Given the description of an element on the screen output the (x, y) to click on. 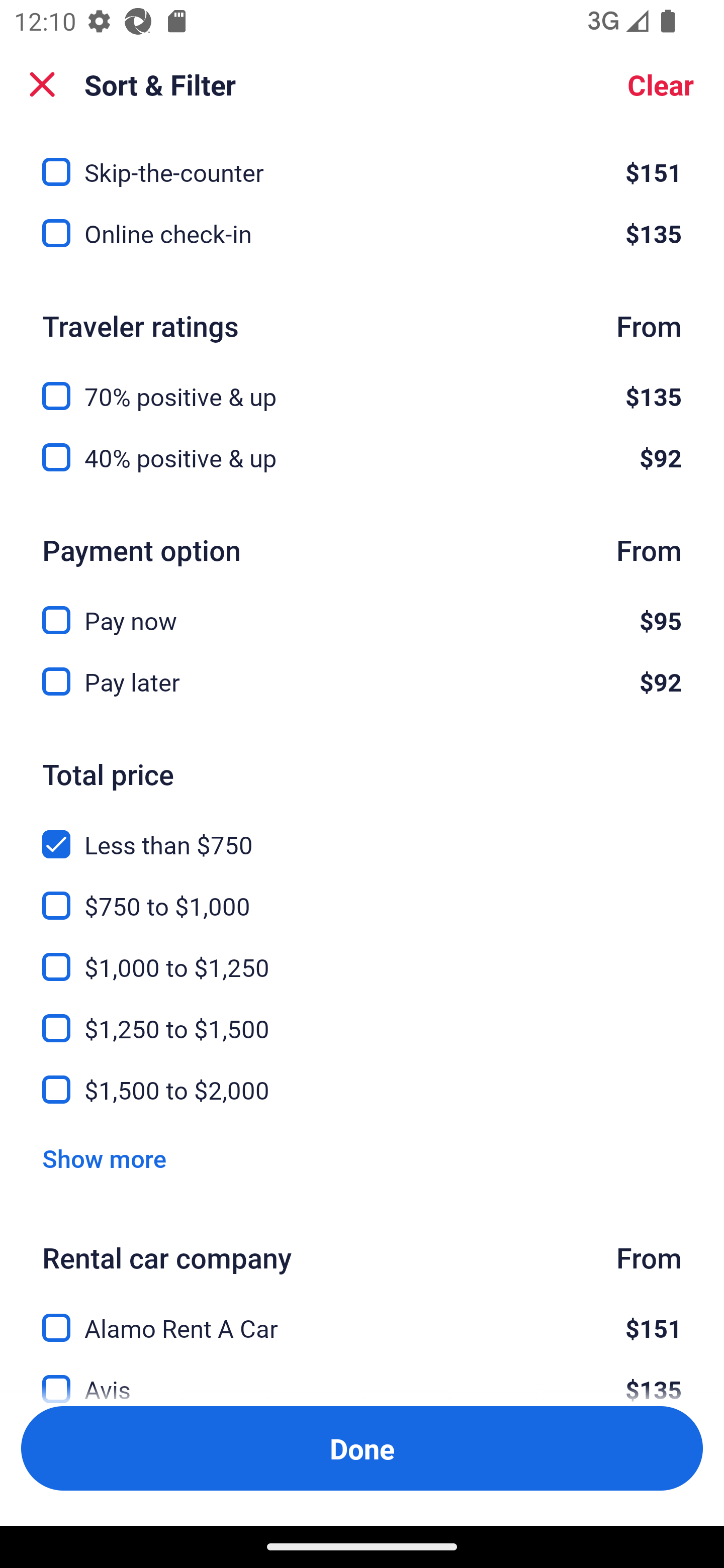
Close Sort and Filter (42, 84)
Clear (660, 84)
Skip-the-counter, $151 Skip-the-counter $151 (361, 160)
Online check-in, $135 Online check-in $135 (361, 233)
70% positive & up, $135 70% positive & up $135 (361, 384)
40% positive & up, $92 40% positive & up $92 (361, 457)
Pay now, $95 Pay now $95 (361, 608)
Pay later, $92 Pay later $92 (361, 681)
Less than $750, Less than $750 (361, 832)
$750 to $1,000, $750 to $1,000 (361, 894)
$1,000 to $1,250, $1,000 to $1,250 (361, 955)
$1,250 to $1,500, $1,250 to $1,500 (361, 1016)
$1,500 to $2,000, $1,500 to $2,000 (361, 1089)
Show more Show more Link (103, 1158)
Alamo Rent A Car, $151 Alamo Rent A Car $151 (361, 1315)
Avis, $135 Avis $135 (361, 1376)
Apply and close Sort and Filter Done (361, 1448)
